Given the description of an element on the screen output the (x, y) to click on. 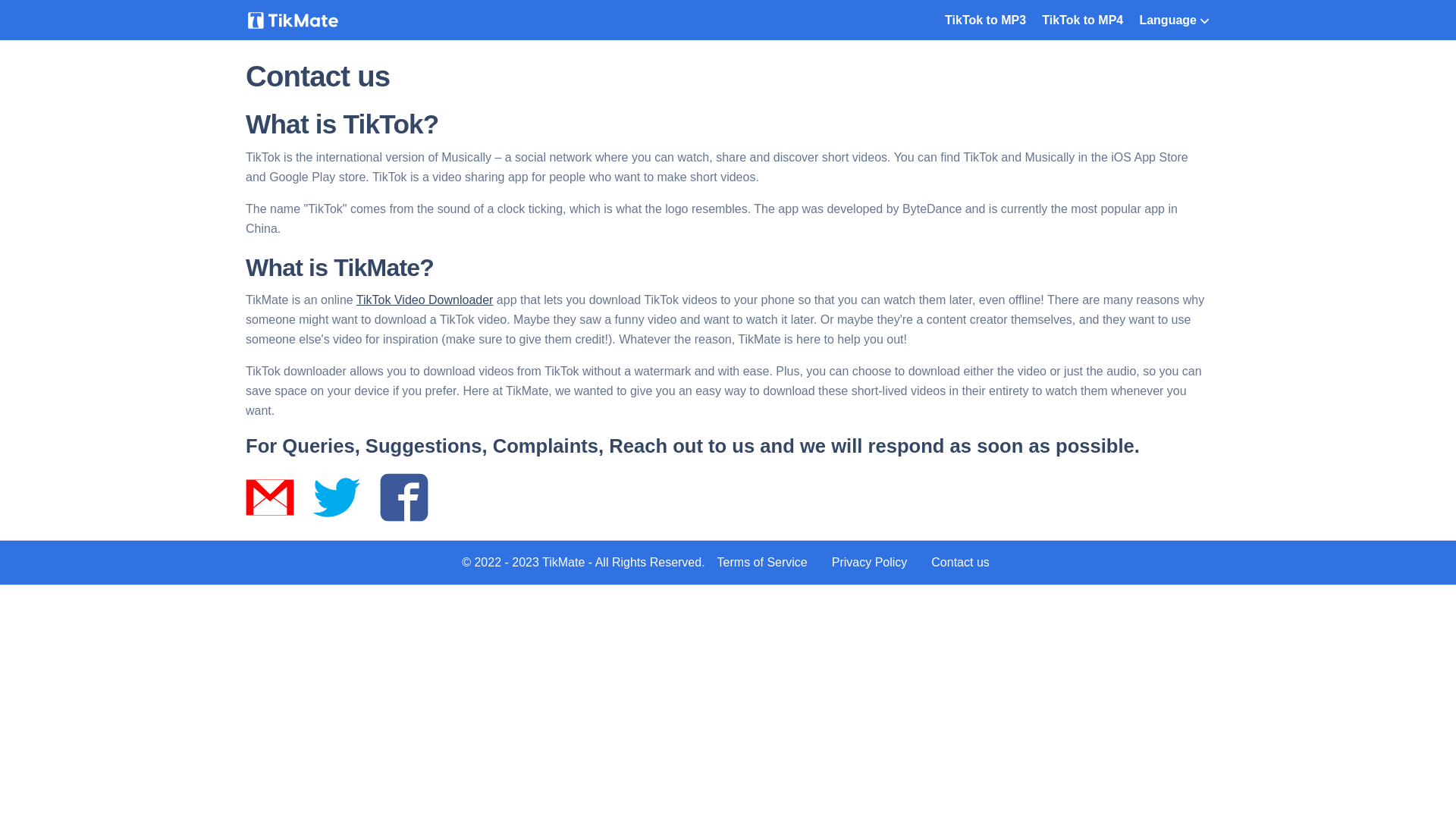
Terms of Service Element type: text (762, 561)
TikTok to MP3 Element type: text (985, 20)
TikTok Video Downloader Element type: text (424, 299)
TikTok to MP4 Element type: text (1082, 20)
Privacy Policy Element type: text (869, 561)
Contact us Element type: text (959, 561)
Language Element type: text (1174, 20)
TikMate Element type: text (563, 561)
